Given the description of an element on the screen output the (x, y) to click on. 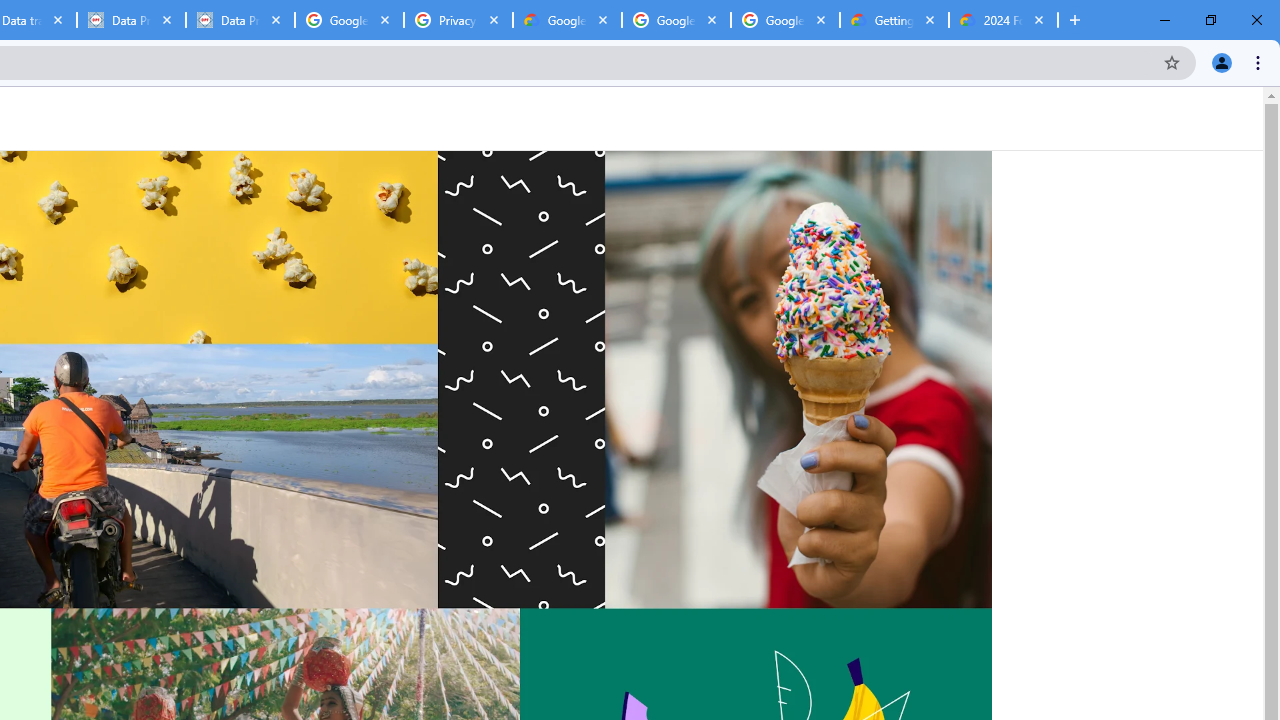
Google Cloud Terms Directory | Google Cloud (567, 20)
Data Privacy Framework (130, 20)
Data Privacy Framework (240, 20)
Google Workspace - Specific Terms (784, 20)
Google Workspace - Specific Terms (676, 20)
